Given the description of an element on the screen output the (x, y) to click on. 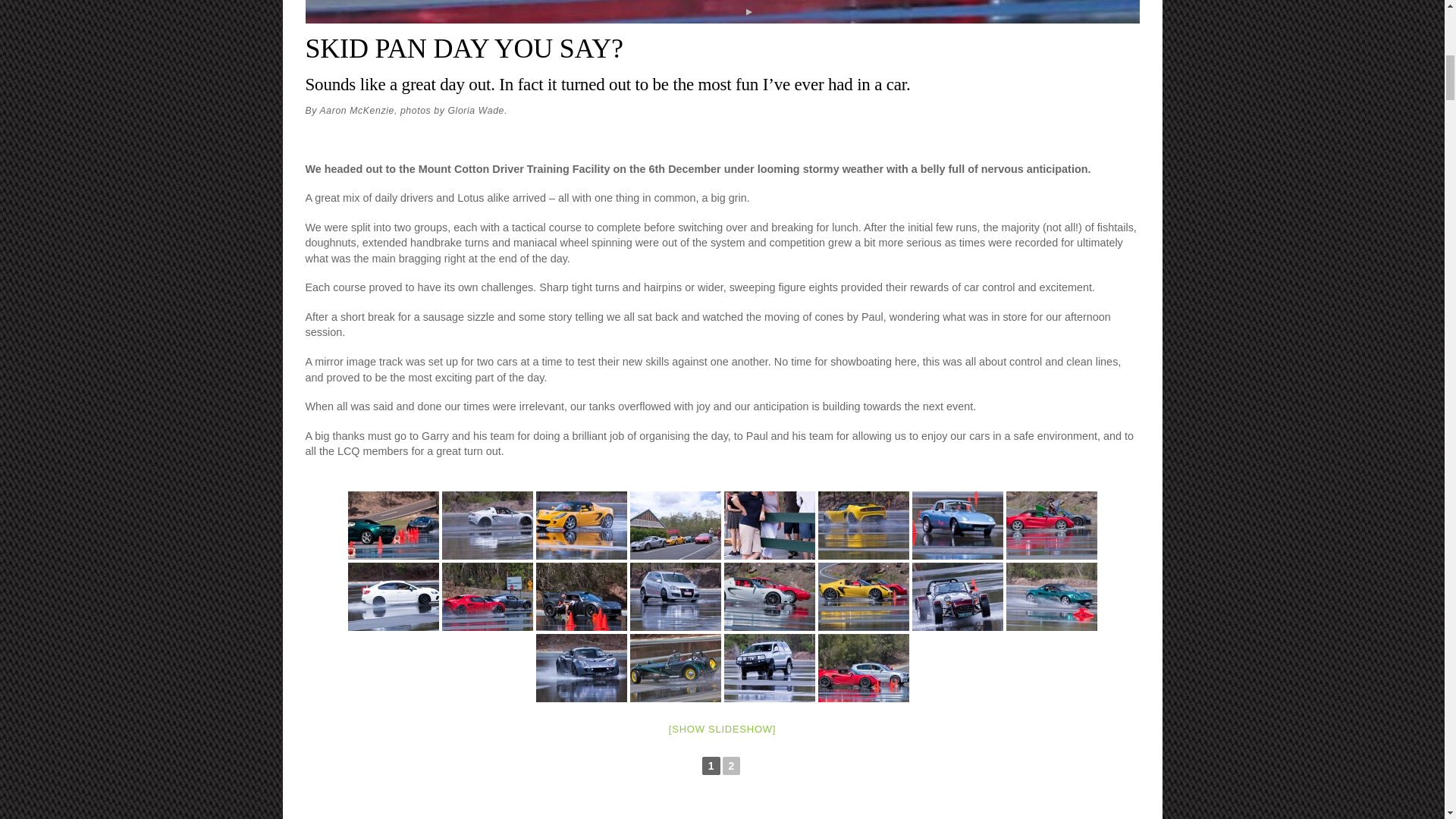
SKID PAN DAY YOU SAY? (463, 48)
